Given the description of an element on the screen output the (x, y) to click on. 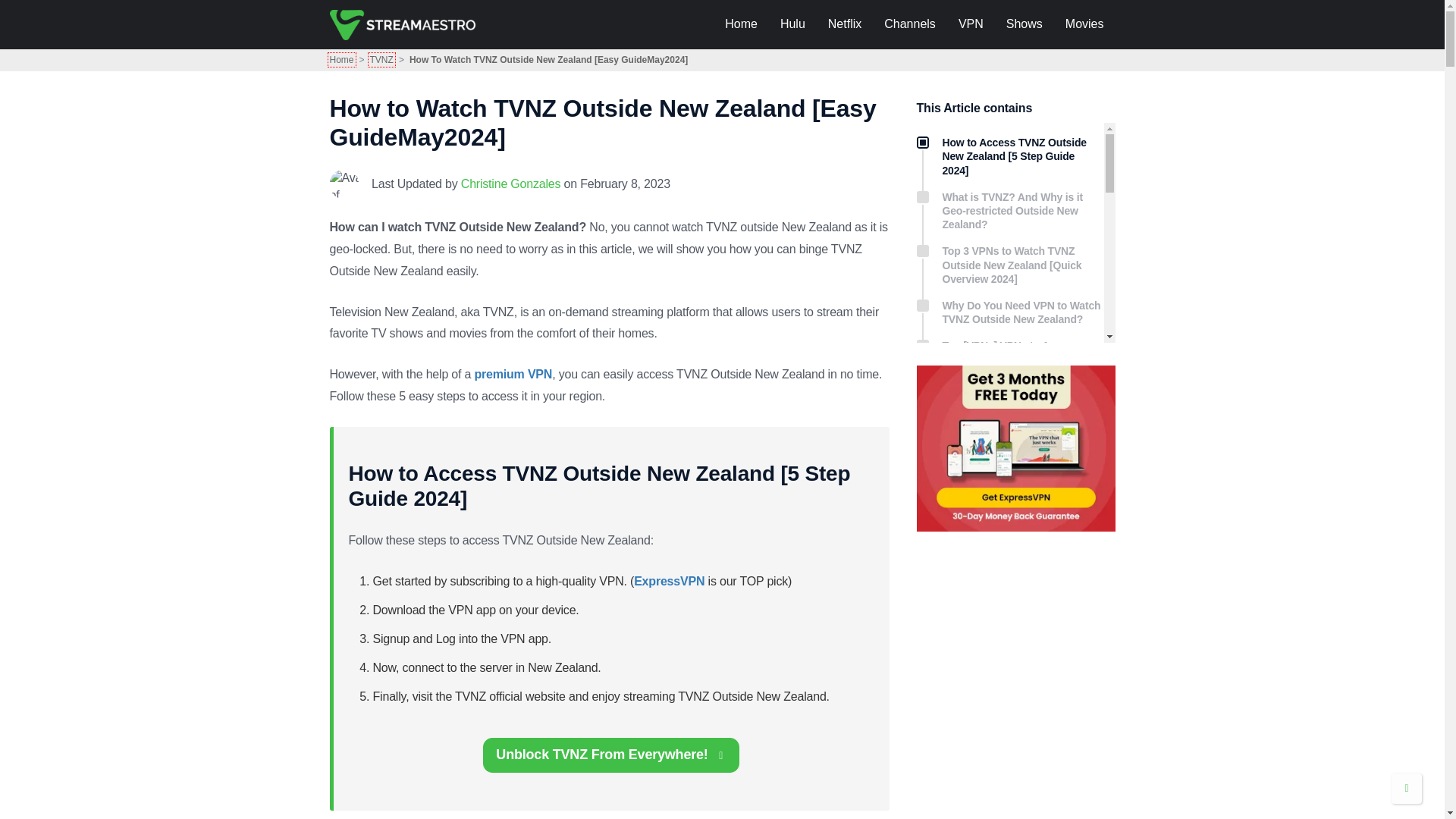
Christine Gonzales (510, 183)
Movies (1084, 24)
Netflix (844, 24)
VPN (970, 24)
Home (740, 24)
TVNZ (381, 59)
Home (341, 59)
Shows (1024, 24)
Home (341, 59)
Hulu (792, 24)
Posts by Christine Gonzales (510, 183)
Channels (909, 24)
